Given the description of an element on the screen output the (x, y) to click on. 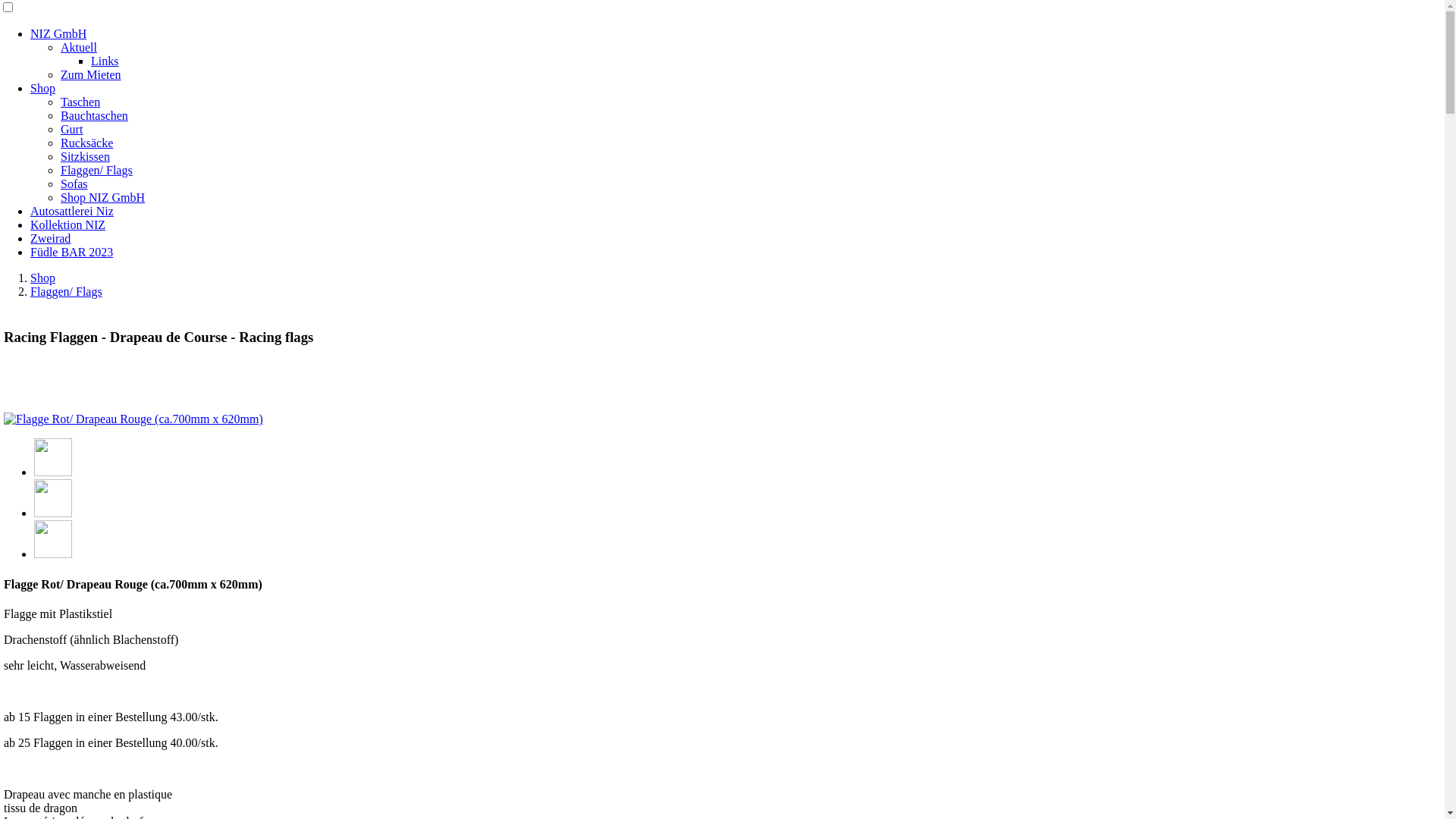
Autosattlerei Niz Element type: text (71, 210)
Sitzkissen Element type: text (84, 156)
Gurt Element type: text (71, 128)
Shop Element type: text (42, 277)
Taschen Element type: text (80, 101)
Zweirad Element type: text (50, 238)
Shop Element type: text (42, 87)
Zum Mieten Element type: text (90, 74)
Links Element type: text (104, 60)
Kollektion NIZ Element type: text (67, 224)
Flaggen/ Flags Element type: text (66, 291)
Aktuell Element type: text (78, 46)
Bauchtaschen Element type: text (94, 115)
Shop NIZ GmbH Element type: text (102, 197)
Sofas Element type: text (73, 183)
NIZ GmbH Element type: text (58, 33)
Flaggen/ Flags Element type: text (96, 169)
